Given the description of an element on the screen output the (x, y) to click on. 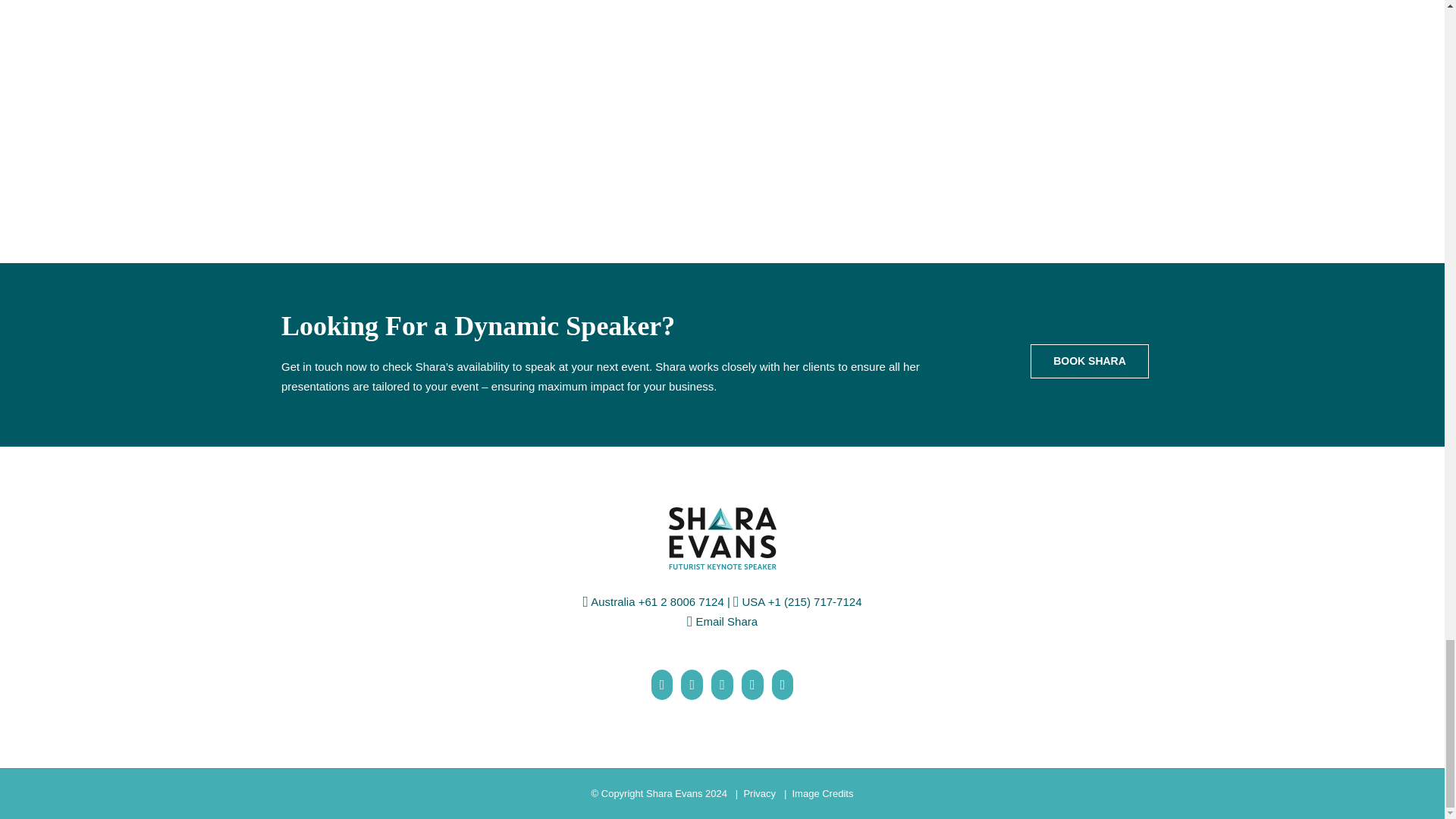
BOOK SHARA (1089, 360)
